Given the description of an element on the screen output the (x, y) to click on. 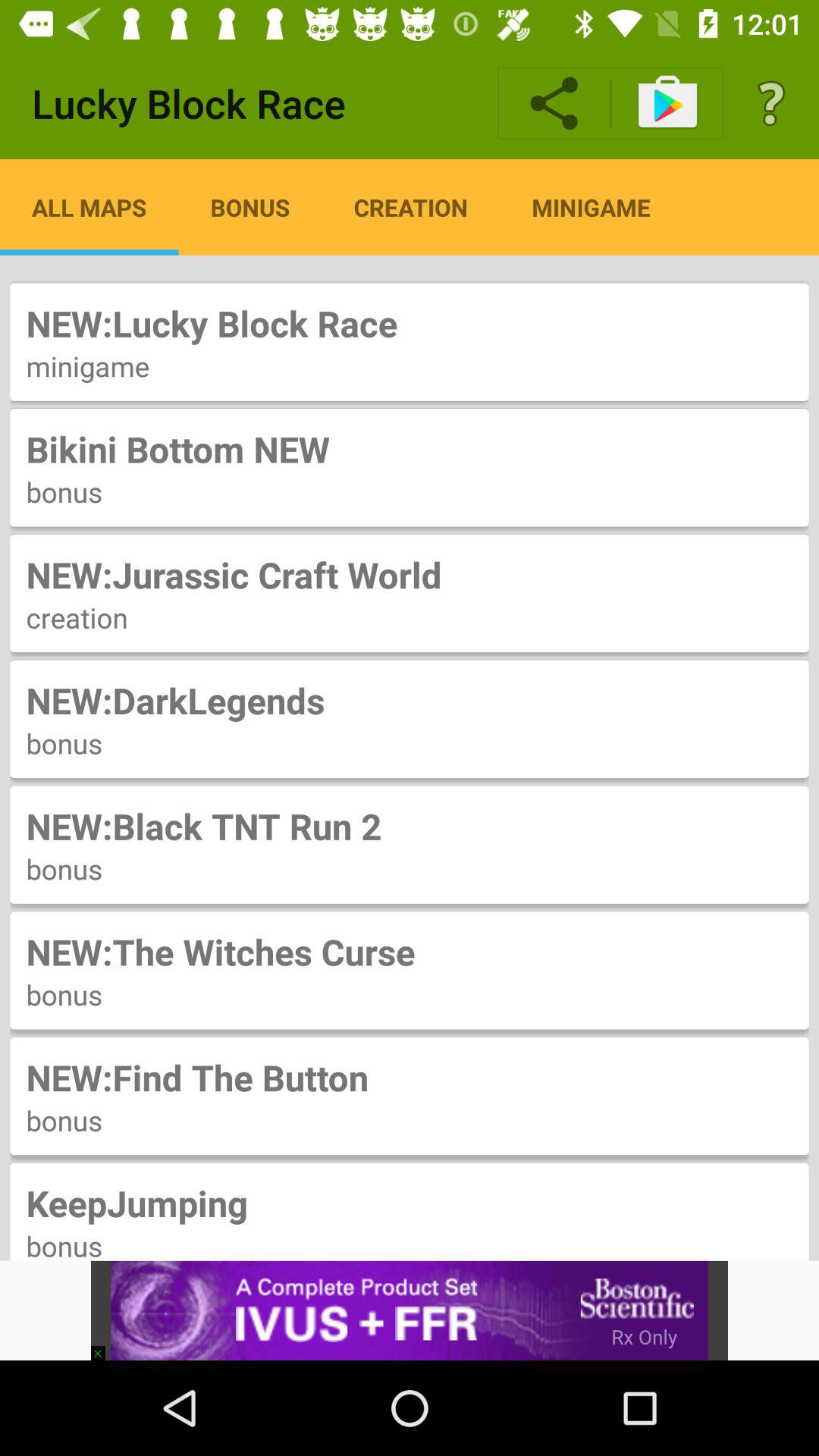
select item next to bonus item (89, 207)
